Given the description of an element on the screen output the (x, y) to click on. 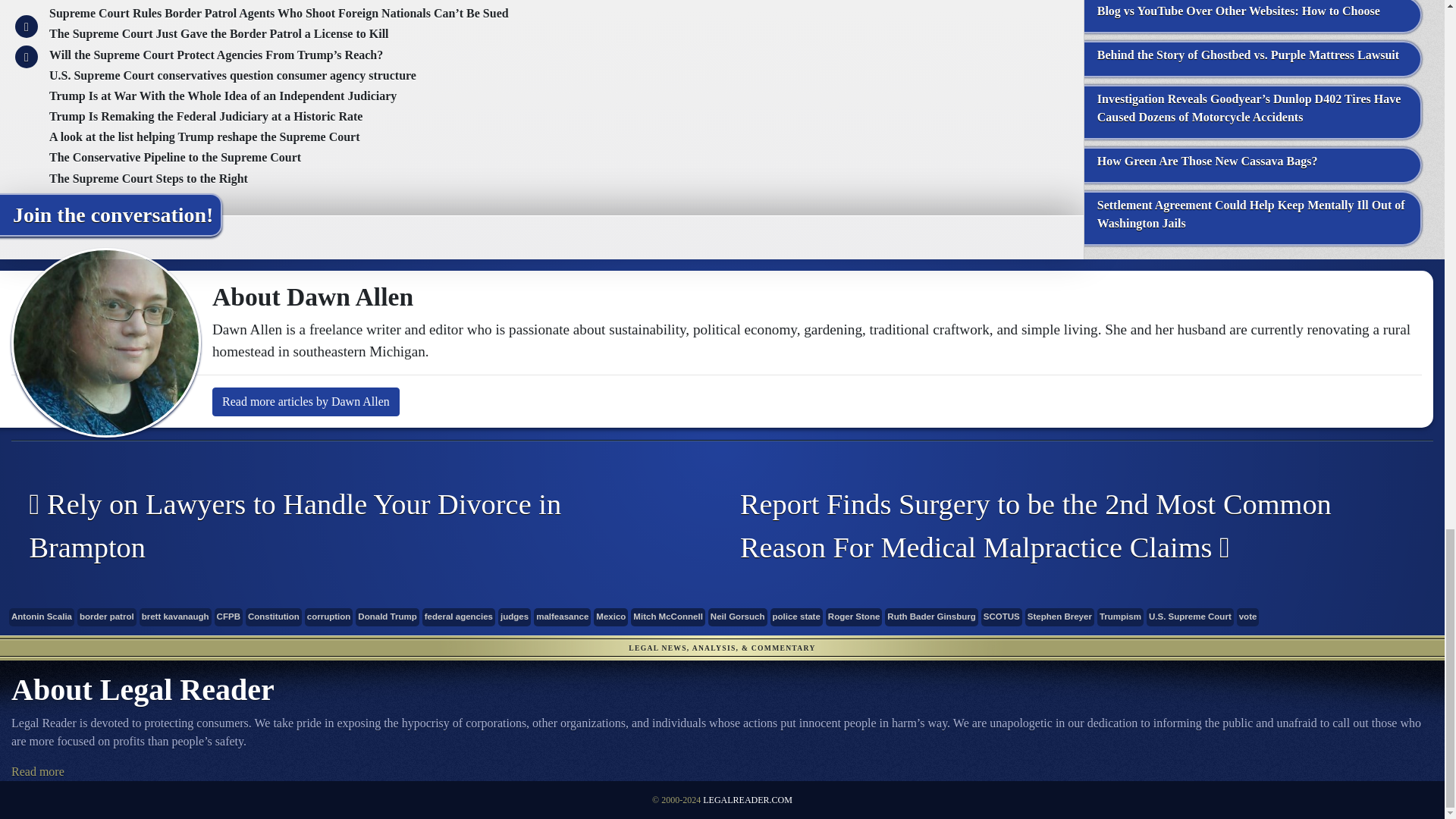
Read more articles by Dawn Allen (305, 401)
The Conservative Pipeline to the Supreme Court (175, 156)
The Supreme Court Steps to the Right (148, 178)
Trump Is Remaking the Federal Judiciary at a Historic Rate (205, 115)
A look at the list helping Trump reshape the Supreme Court (204, 136)
